Given the description of an element on the screen output the (x, y) to click on. 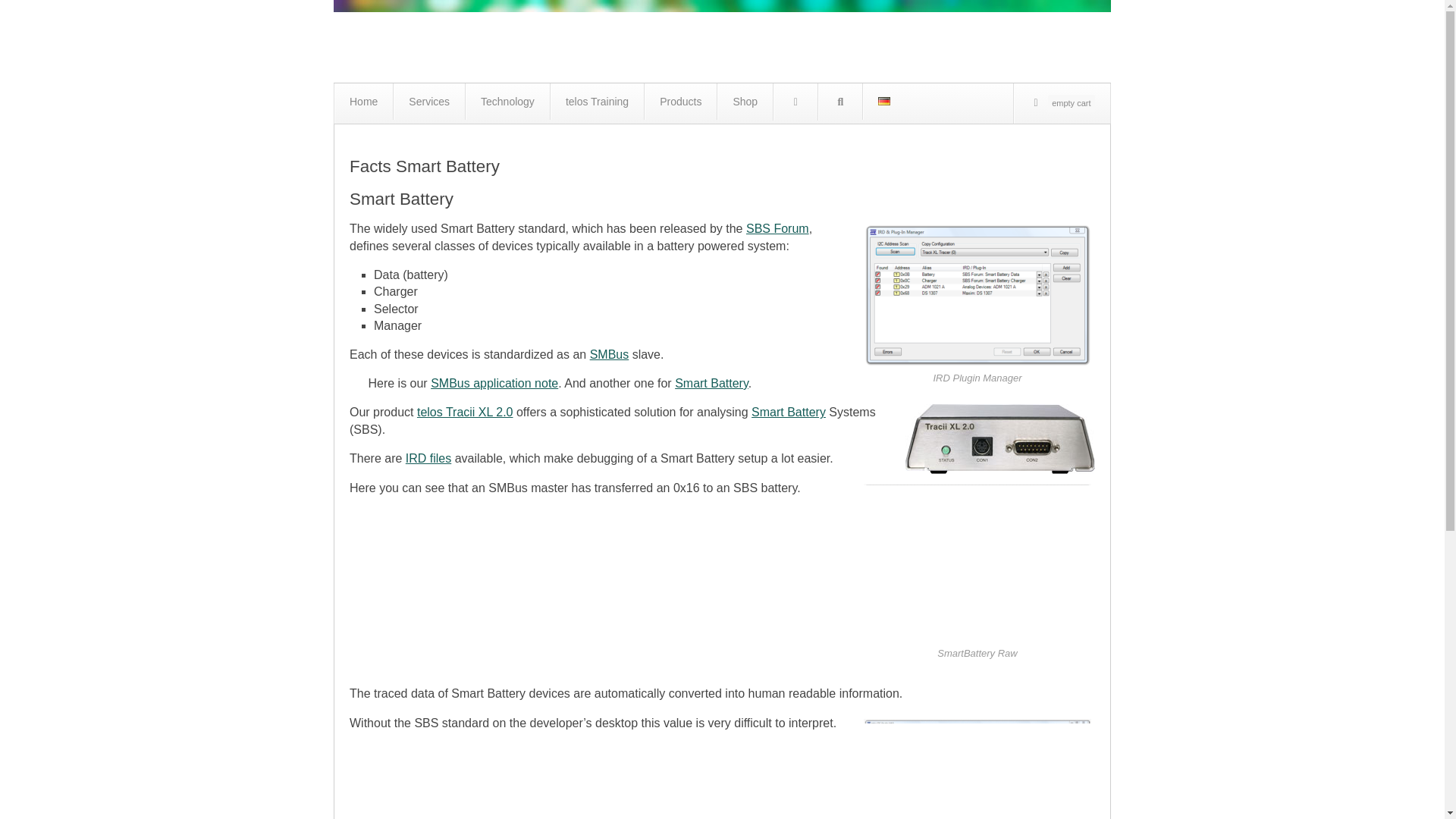
Home (363, 101)
what we can do for you (428, 101)
trainings for engineers (596, 101)
search (838, 101)
telos Training (596, 101)
Services (428, 101)
techology, tools and technical background (507, 101)
Search (839, 101)
Products (679, 101)
